Given the description of an element on the screen output the (x, y) to click on. 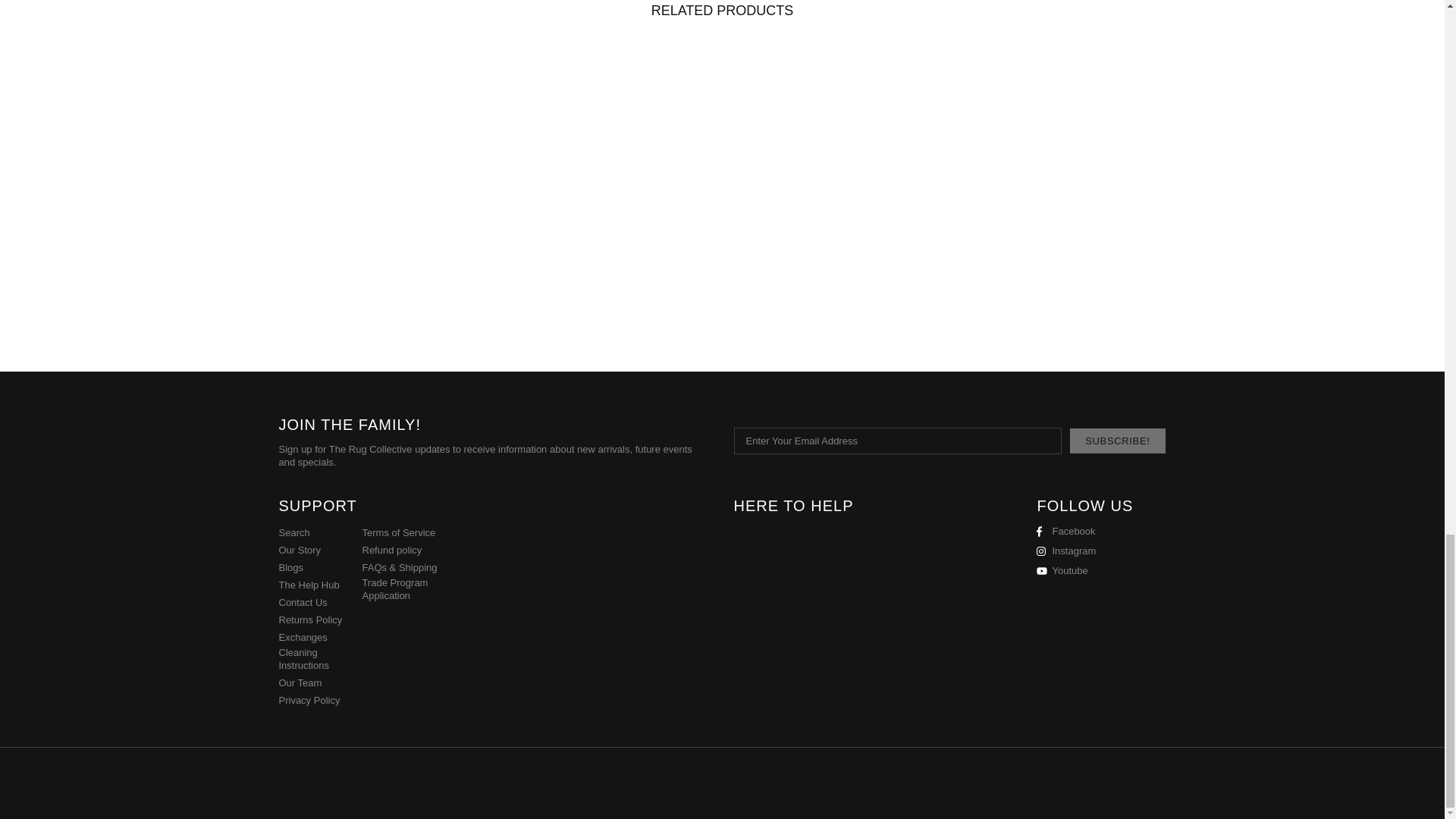
SUBSCRIBE! (1117, 440)
